Given the description of an element on the screen output the (x, y) to click on. 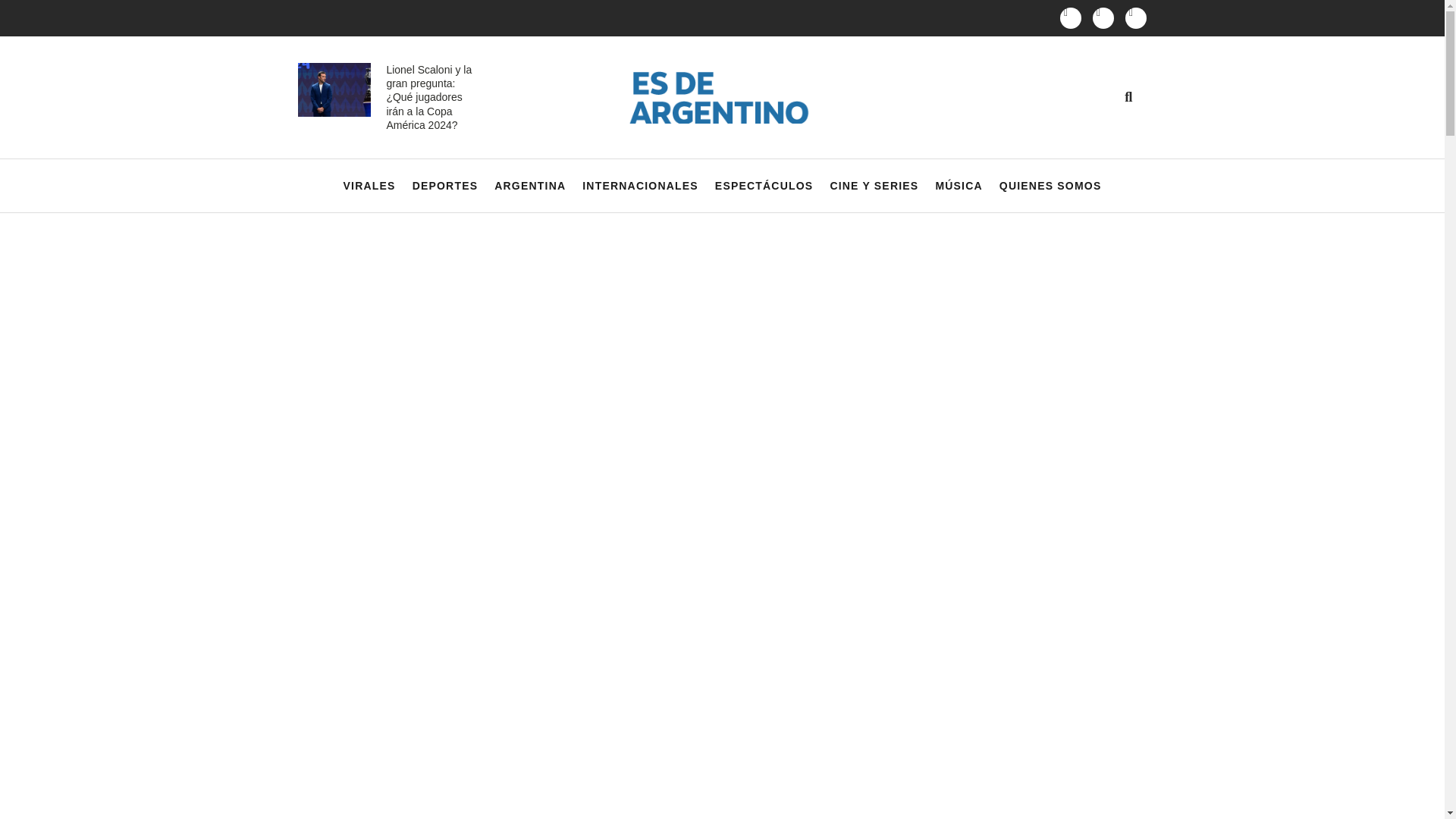
ARGENTINA (530, 185)
VIRALES (369, 185)
CINE Y SERIES (873, 185)
INTERNACIONALES (640, 185)
DEPORTES (445, 185)
QUIENES SOMOS (1050, 185)
